Given the description of an element on the screen output the (x, y) to click on. 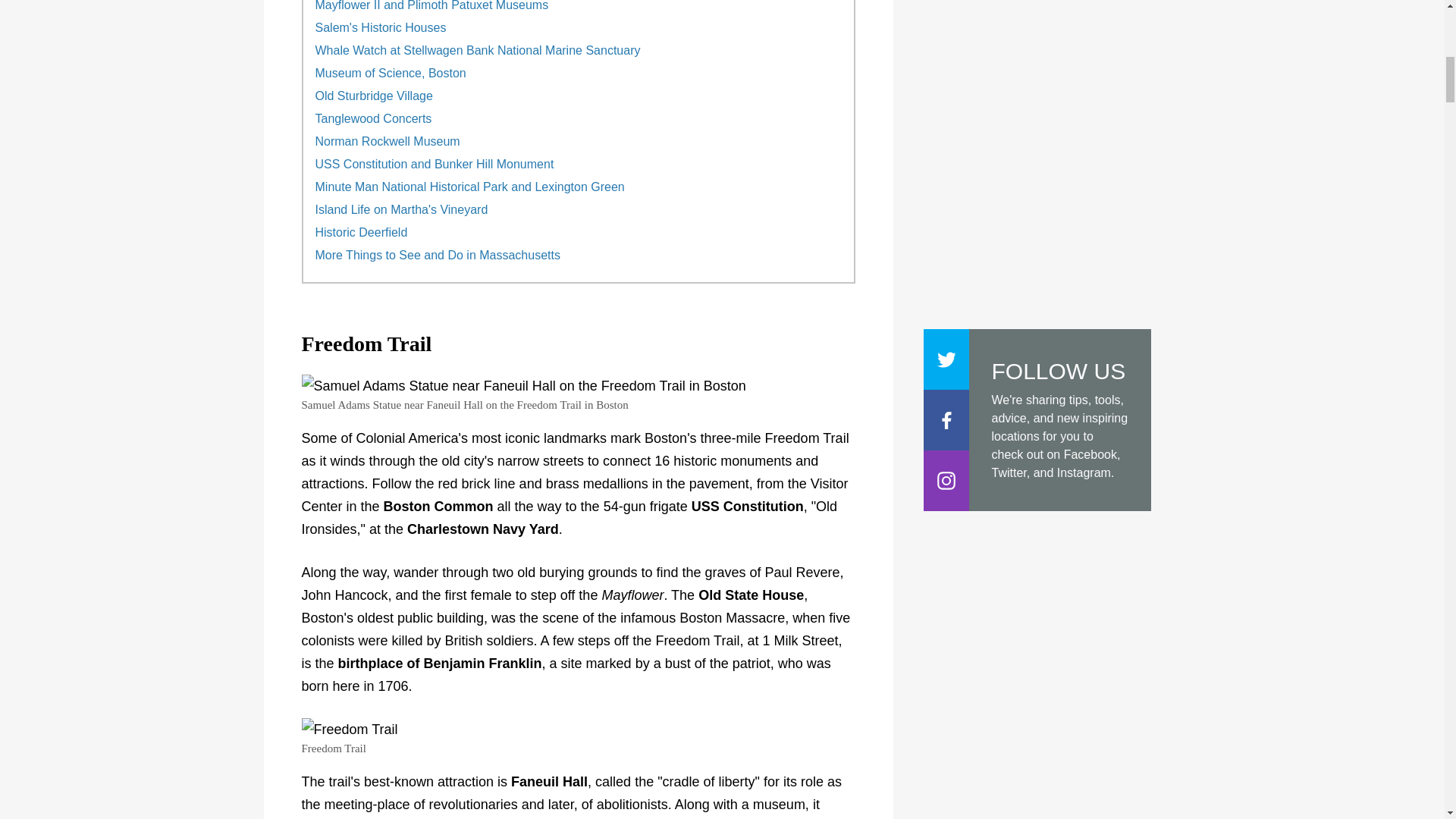
Salem's Historic Houses (380, 28)
Island Life on Martha's Vineyard (401, 210)
Mayflower II and Plimoth Patuxet Museums (431, 6)
Minute Man National Historical Park and Lexington Green (469, 187)
USS Constitution and Bunker Hill Monument (434, 164)
Tanglewood Concerts (373, 119)
Whale Watch at Stellwagen Bank National Marine Sanctuary (477, 50)
Museum of Science, Boston (390, 73)
Norman Rockwell Museum (387, 141)
Historic Deerfield (361, 232)
